Given the description of an element on the screen output the (x, y) to click on. 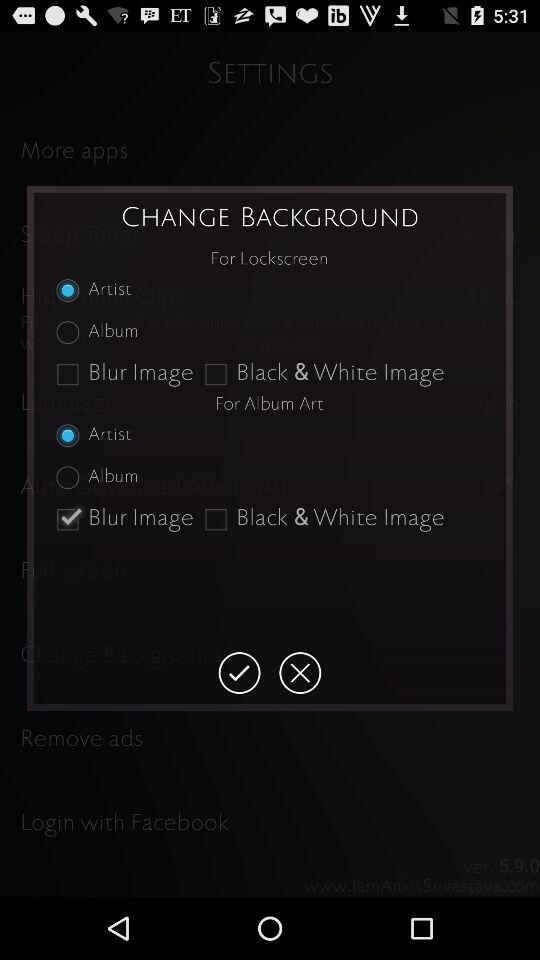
tap the checkbox below the black & white image checkbox (239, 673)
